Given the description of an element on the screen output the (x, y) to click on. 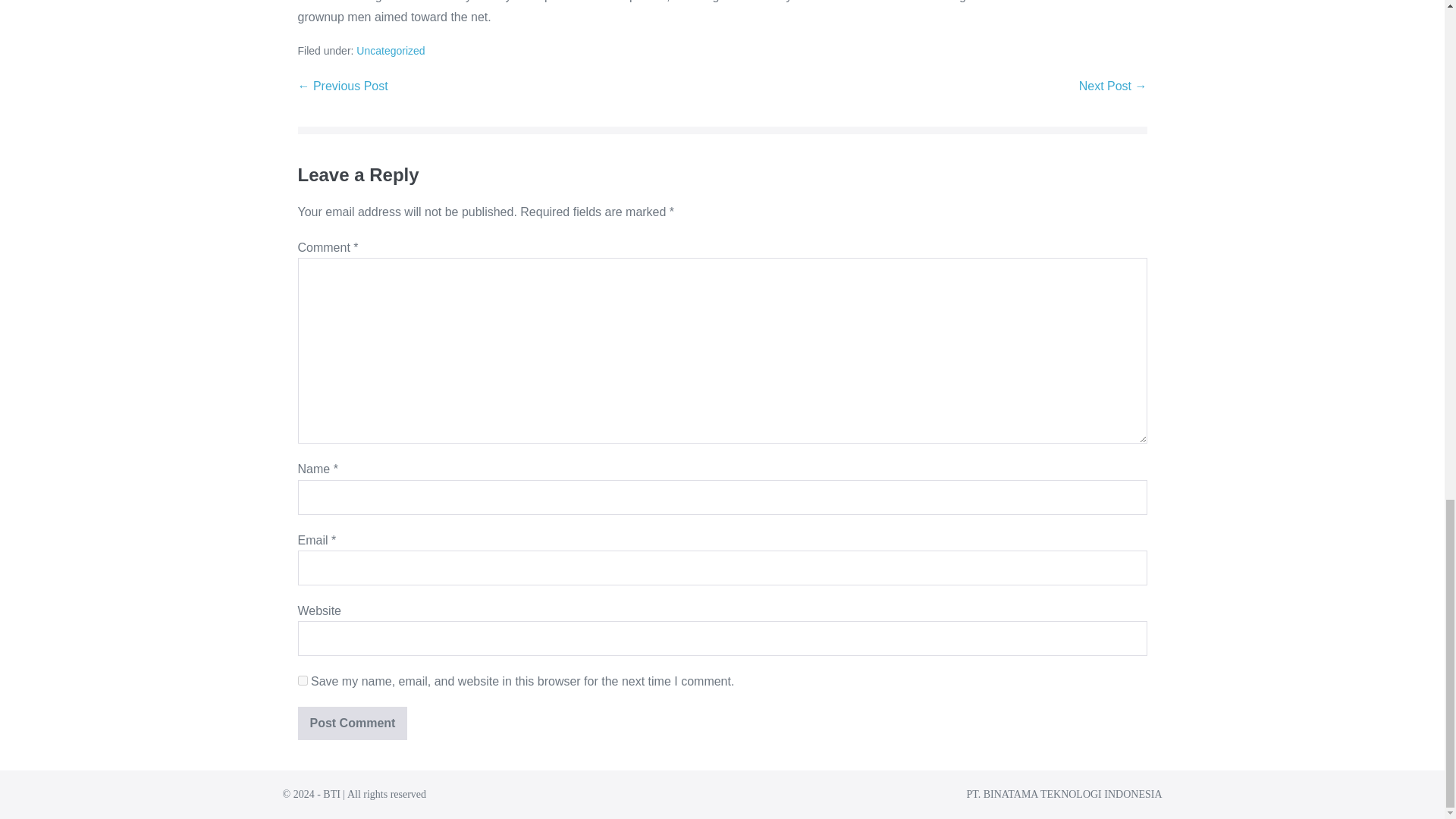
Post Comment (352, 723)
Uncategorized (390, 50)
yes (302, 680)
Post Comment (352, 723)
